Given the description of an element on the screen output the (x, y) to click on. 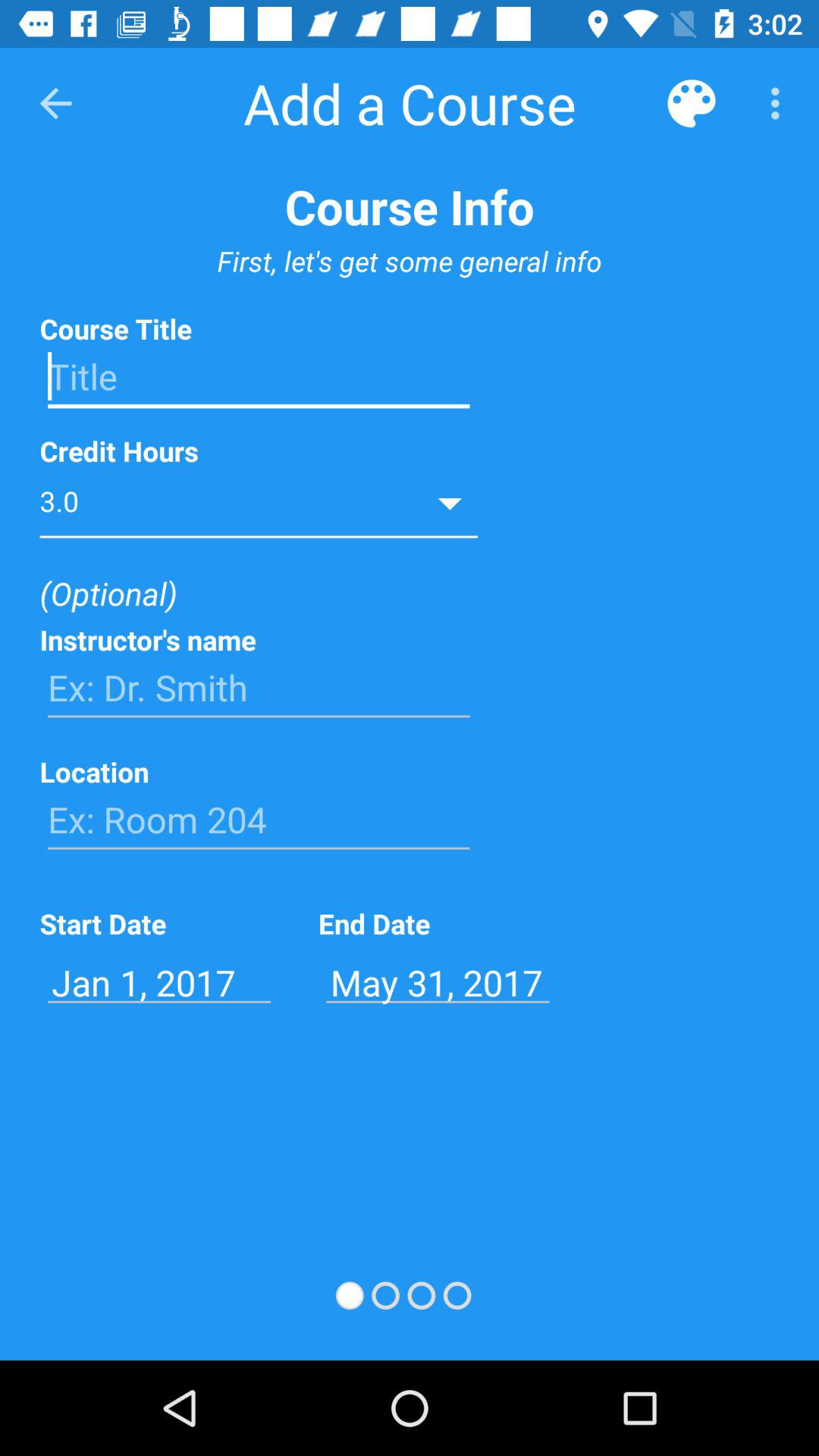
enter title (258, 377)
